Given the description of an element on the screen output the (x, y) to click on. 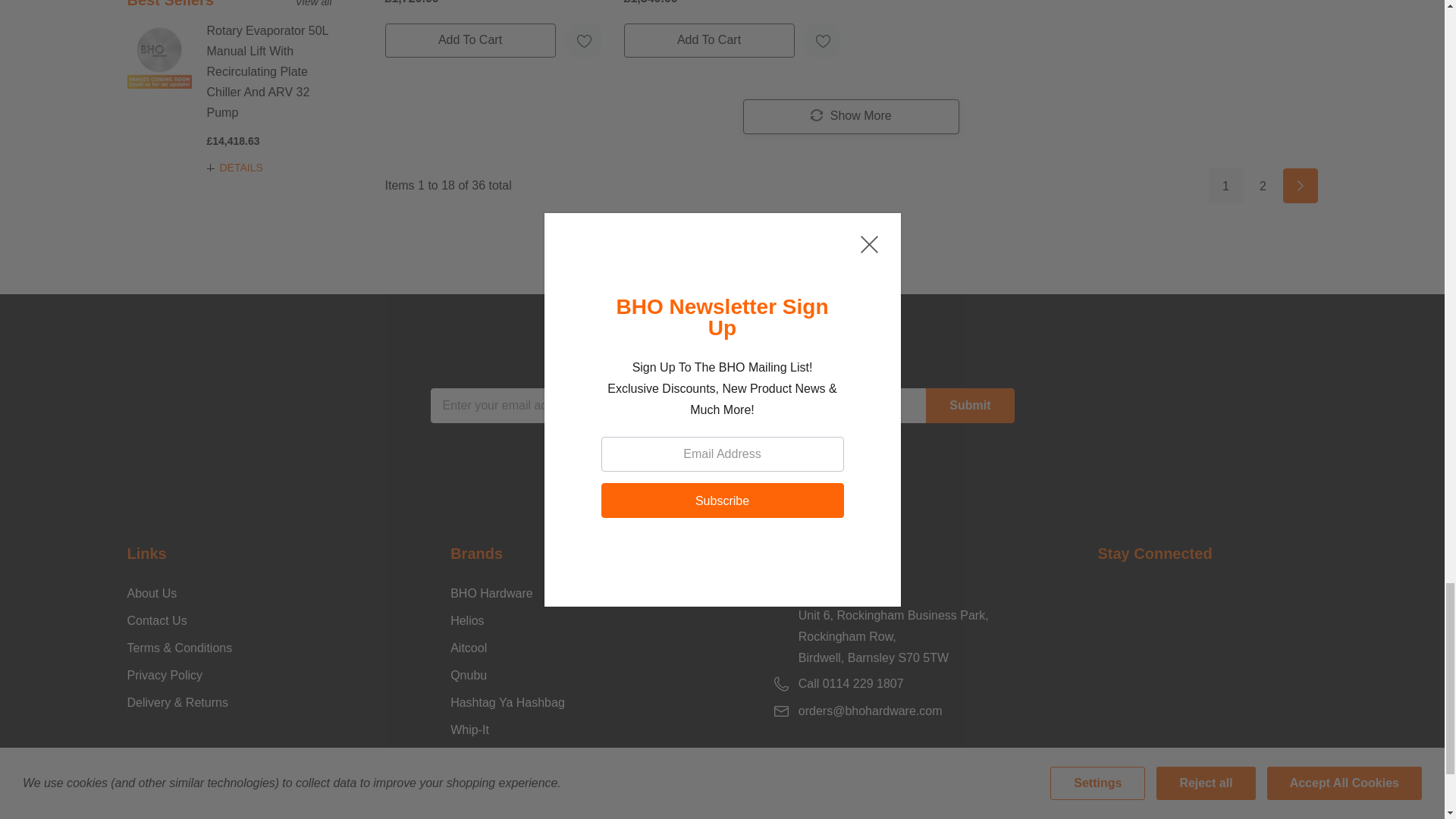
Submit (969, 405)
